Given the description of an element on the screen output the (x, y) to click on. 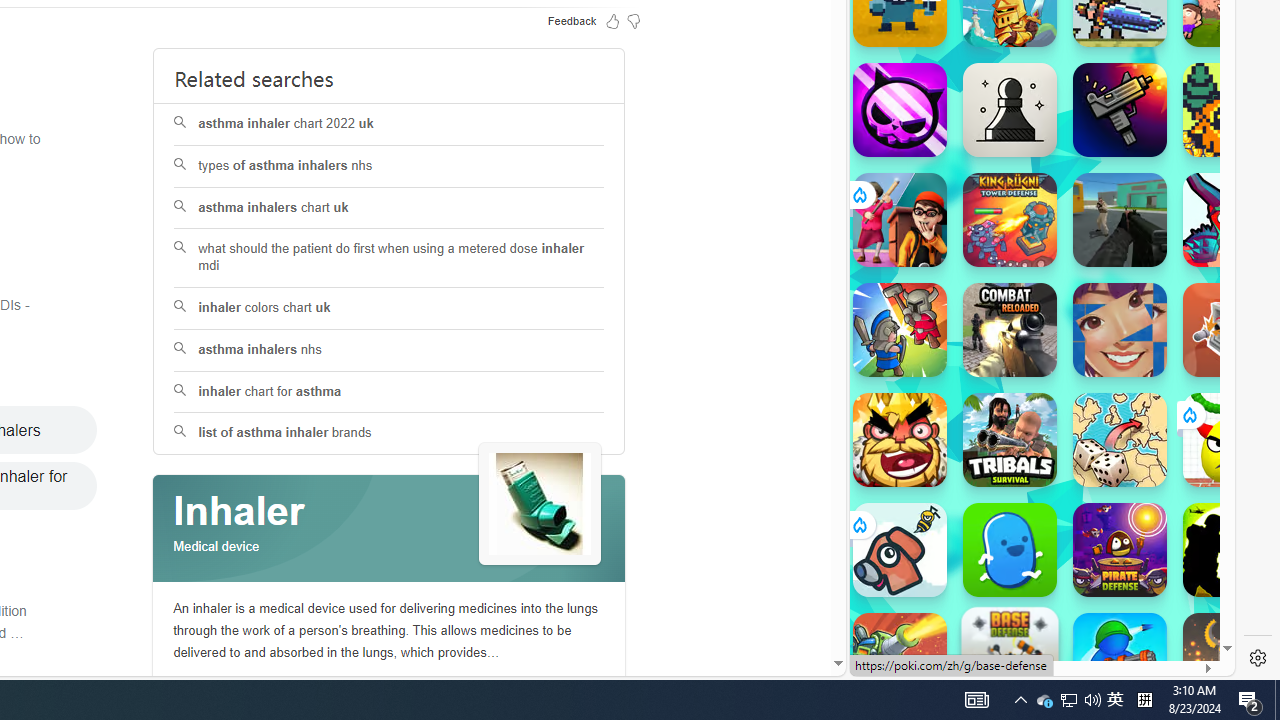
Hills of Steel (925, 290)
Swatforce vs Terrorists (1229, 549)
Swatforce vs Terrorists Swatforce vs Terrorists (1229, 549)
Combat Reloaded (1092, 300)
Day of Meat: Radiation Day of Meat: Radiation (1119, 109)
Combat Reloaded (1090, 290)
Tribals.io (1009, 439)
Tribals.io Tribals.io (1009, 439)
Base Defense Base Defense (1009, 655)
Search results from poki.com (1005, 59)
School Escape! School Escape! (899, 219)
Class: rCs5cyEiqiTpYvt_VBCR (858, 525)
Merge Arena (899, 329)
Clash of Tanks (899, 659)
School Escape! (899, 219)
